Given the description of an element on the screen output the (x, y) to click on. 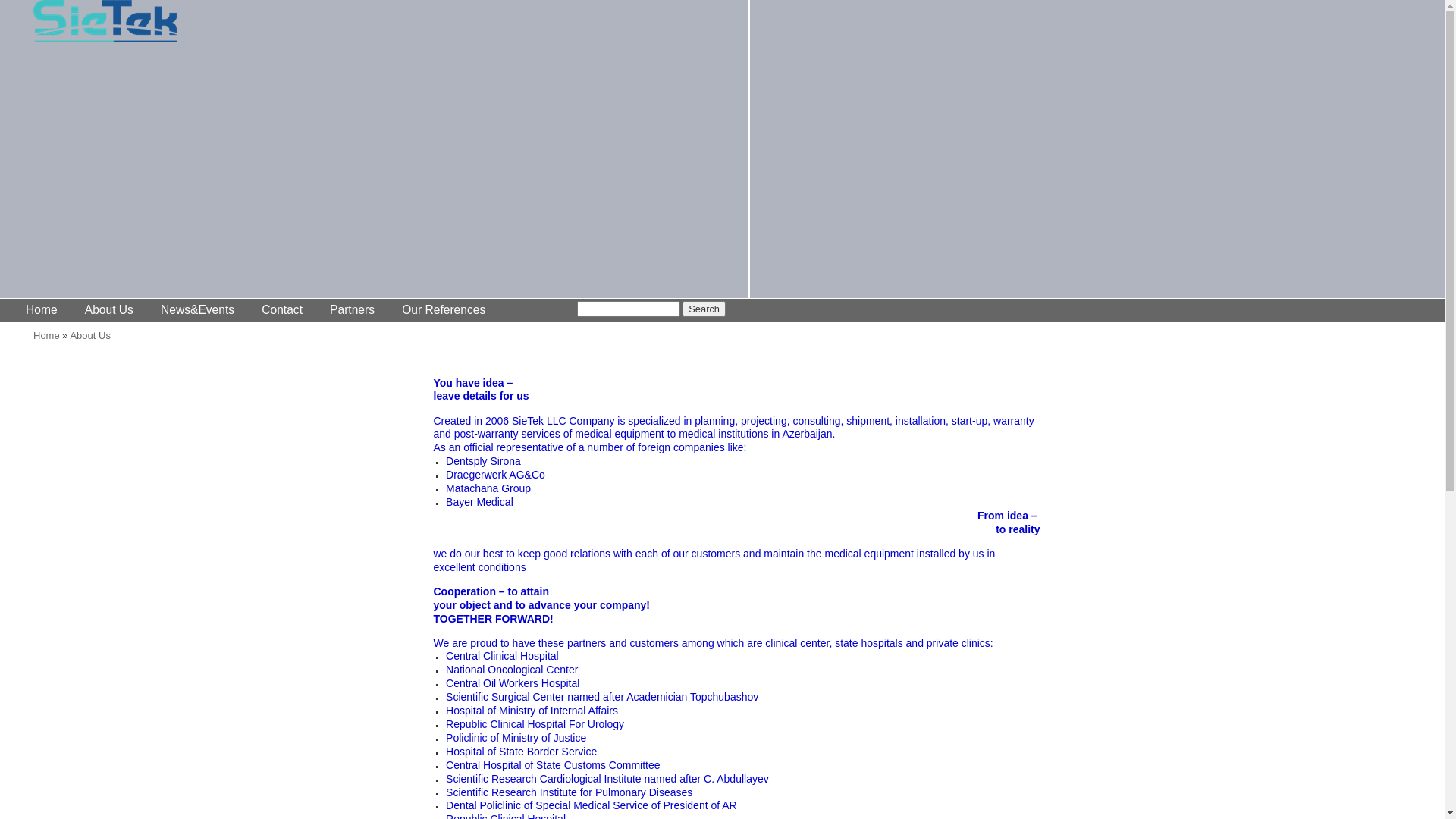
Contact Element type: text (281, 309)
News&Events Element type: text (197, 309)
About Us Element type: text (89, 335)
Home Element type: hover (98, 27)
Home Element type: text (41, 309)
Home Element type: text (46, 335)
About Us Element type: text (108, 309)
Partners Element type: text (351, 309)
Skip to main content Element type: text (44, 0)
Our References Element type: text (443, 309)
Enter the terms you wish to search for. Element type: hover (628, 308)
Search Element type: text (703, 308)
